Given the description of an element on the screen output the (x, y) to click on. 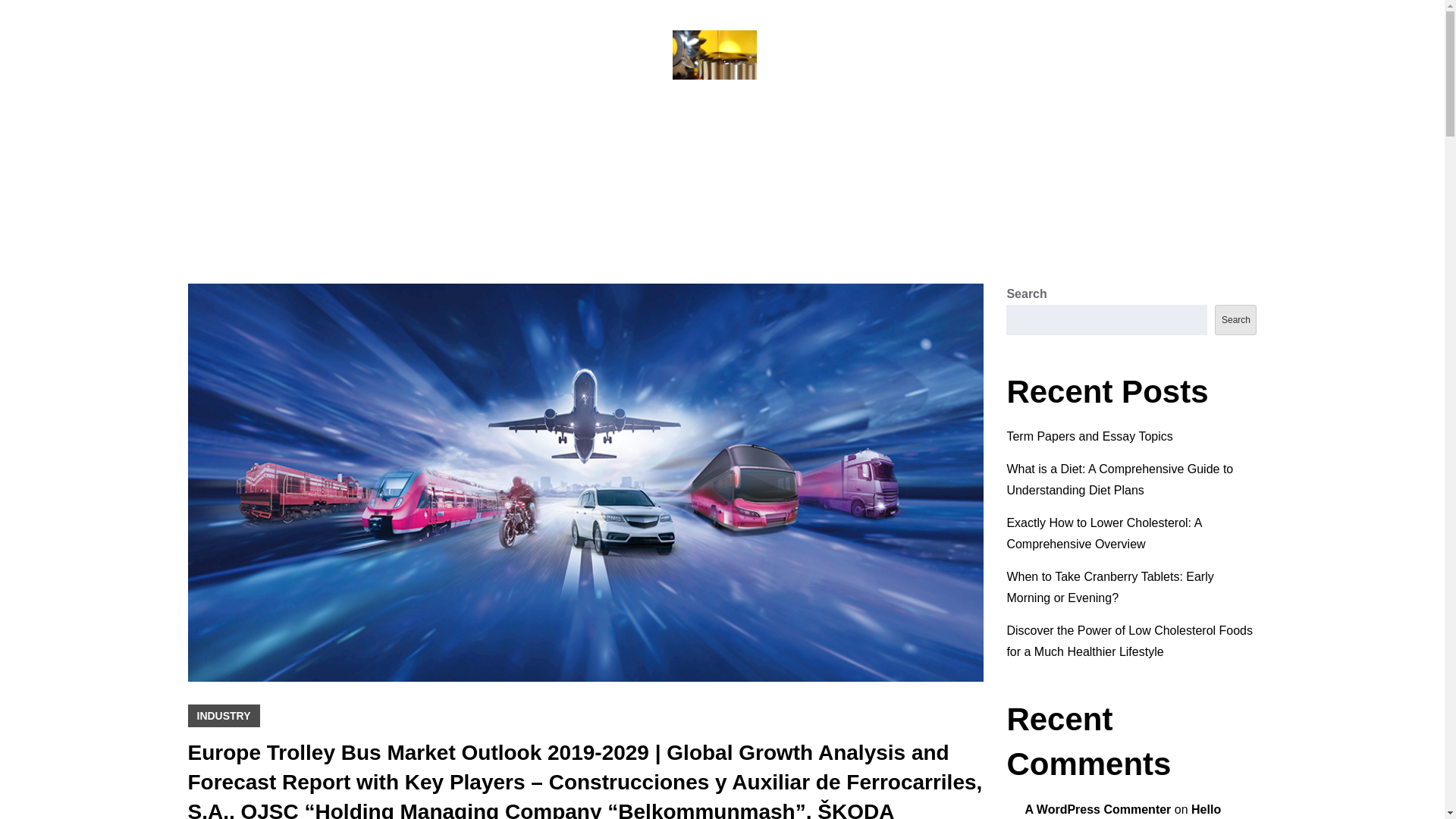
Search (1235, 319)
Term Papers and Essay Topics (1089, 436)
Exactly How to Lower Cholesterol: A Comprehensive Overview (1103, 533)
A WordPress Commenter (1097, 809)
When to Take Cranberry Tablets: Early Morning or Evening? (1109, 587)
INDUSTRY (223, 715)
Hello world! (1123, 811)
INDUSTRY NEWS ANALYSIS (722, 116)
